Given the description of an element on the screen output the (x, y) to click on. 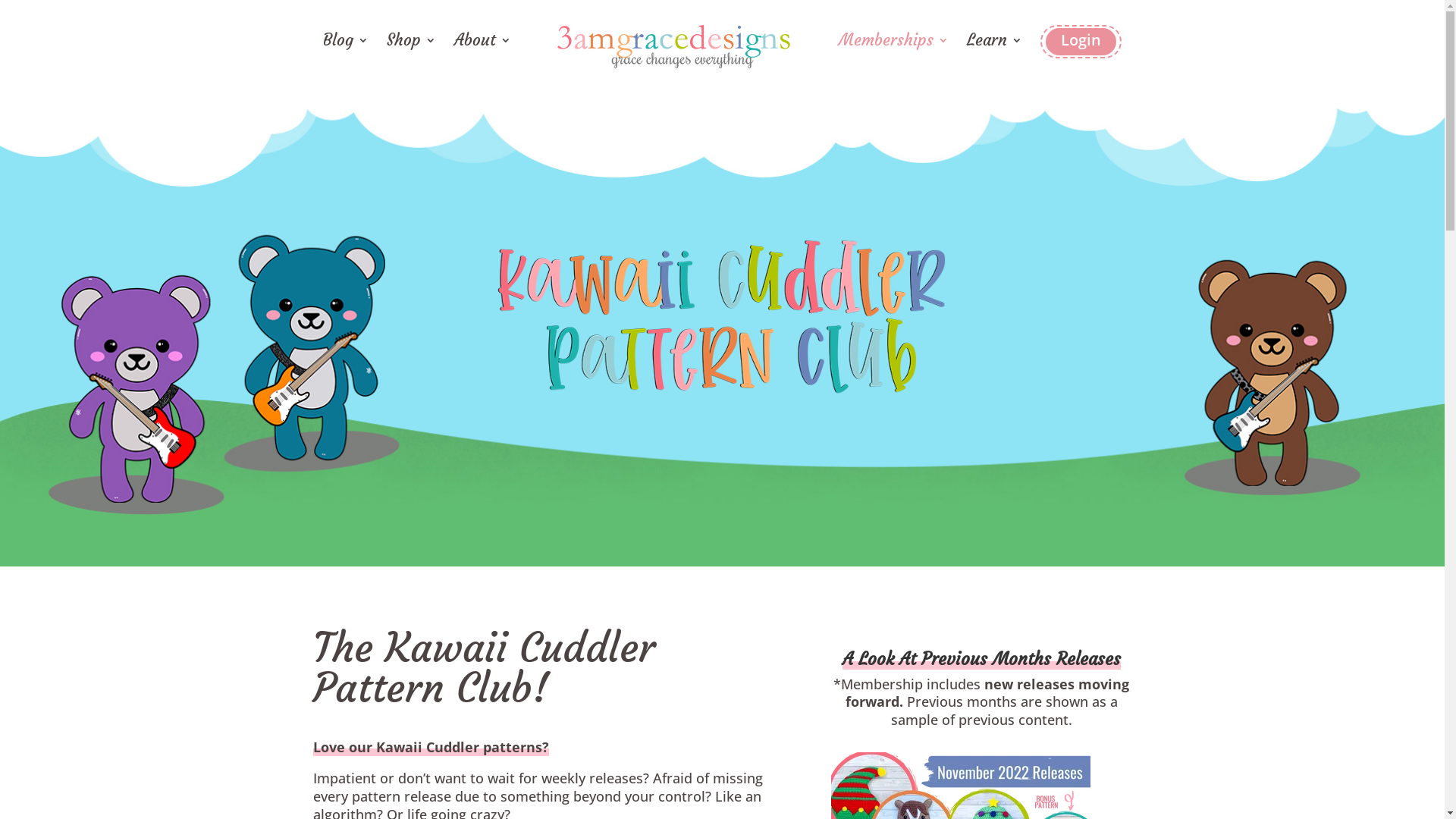
Shop Element type: text (411, 52)
Blog Element type: text (345, 52)
Kawaii Cuddler Pattern Club Title Element type: hover (721, 318)
Login Element type: text (1080, 41)
Learn Element type: text (994, 52)
Memberships Element type: text (893, 52)
About Element type: text (482, 52)
